Given the description of an element on the screen output the (x, y) to click on. 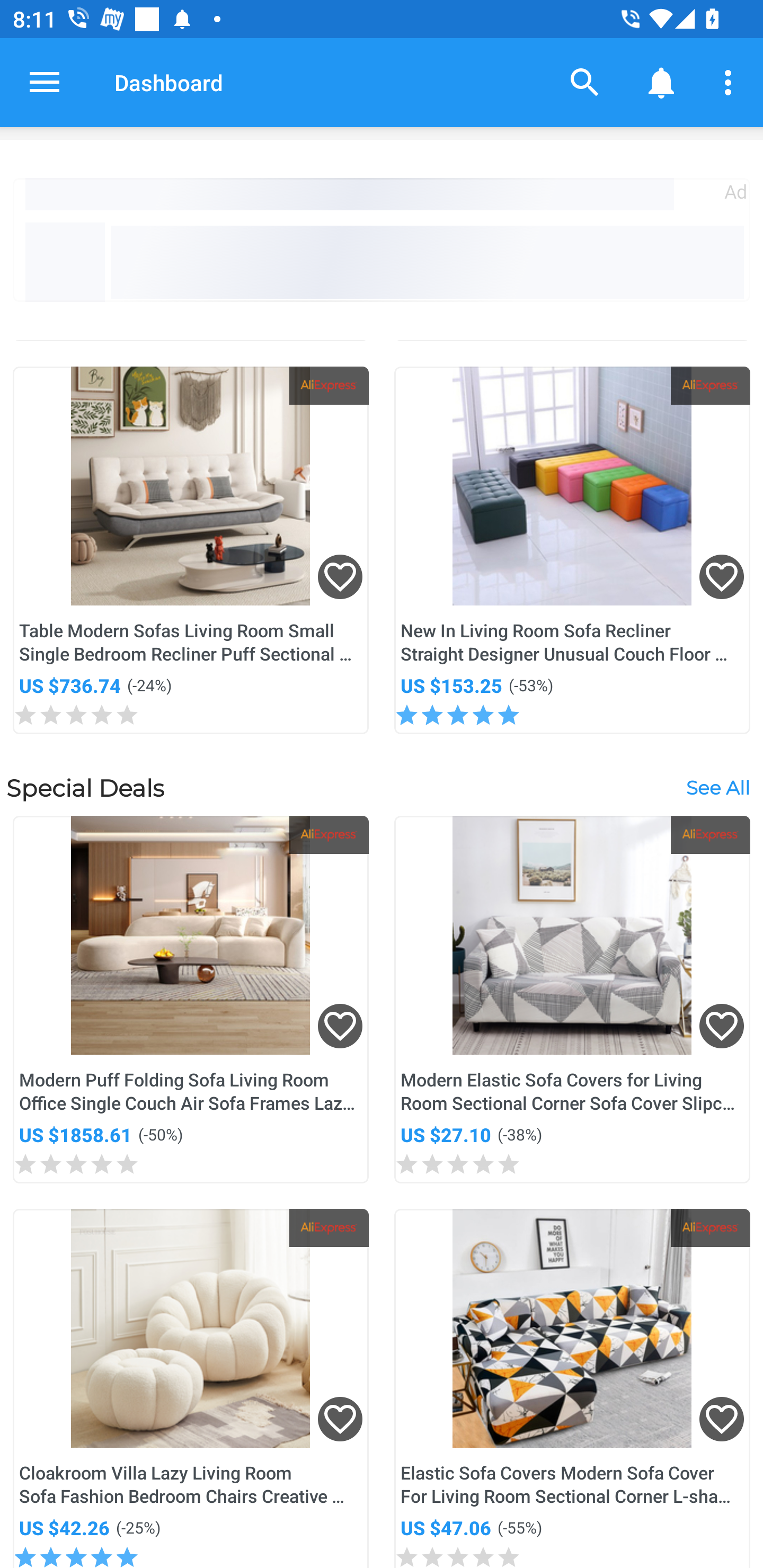
Open navigation drawer (44, 82)
Search (585, 81)
More options (731, 81)
See All (717, 786)
